Given the description of an element on the screen output the (x, y) to click on. 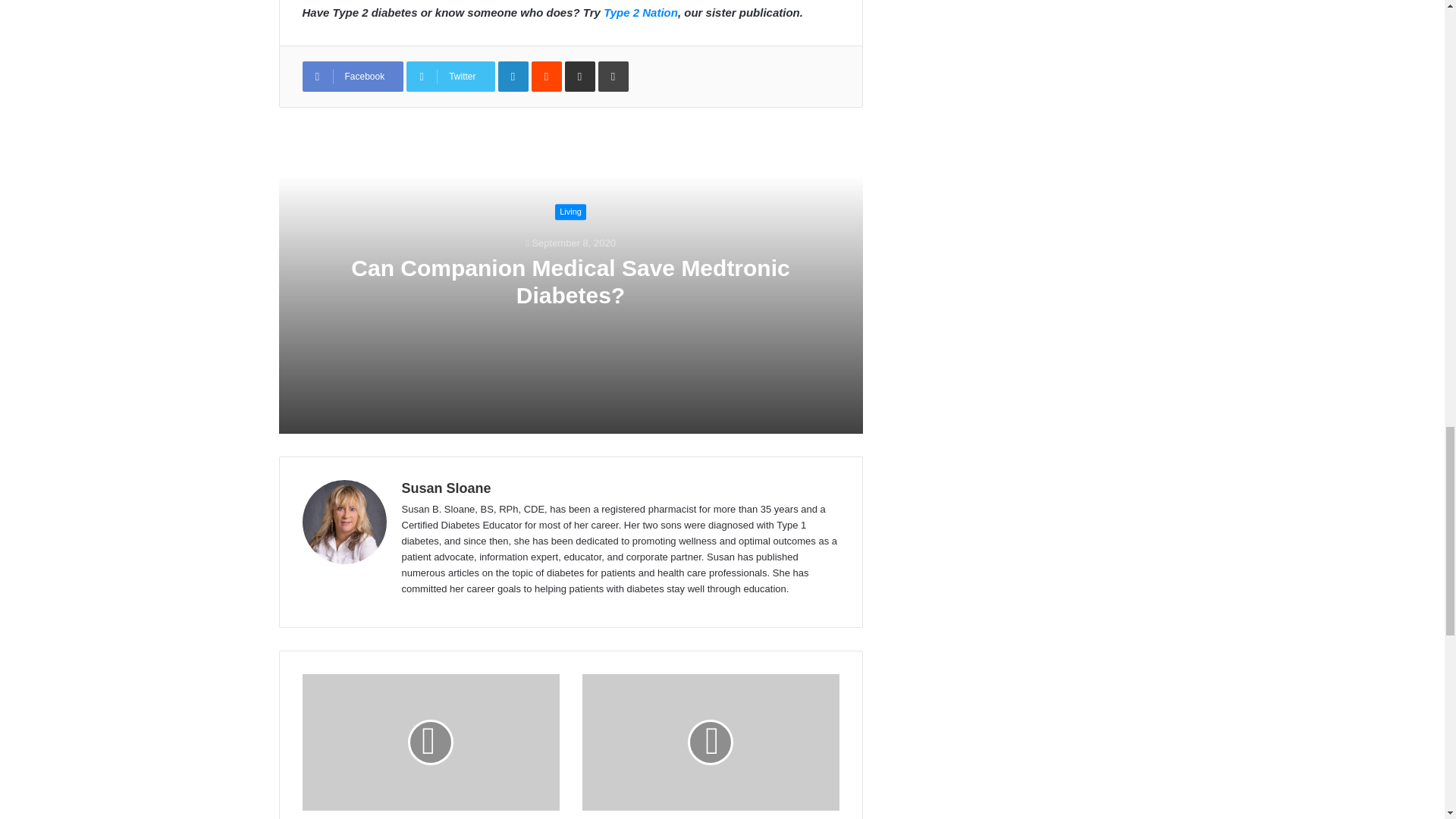
Twitter (450, 76)
Can Companion Medical Save Medtronic Diabetes? (569, 281)
Living (570, 212)
Reddit (546, 76)
LinkedIn (512, 76)
Can Companion Medical Save Medtronic Diabetes? (569, 281)
Type 2 Nation (641, 11)
Share via Email (579, 76)
Posts by Susan Sloane (446, 488)
Print (613, 76)
Facebook (352, 76)
